Given the description of an element on the screen output the (x, y) to click on. 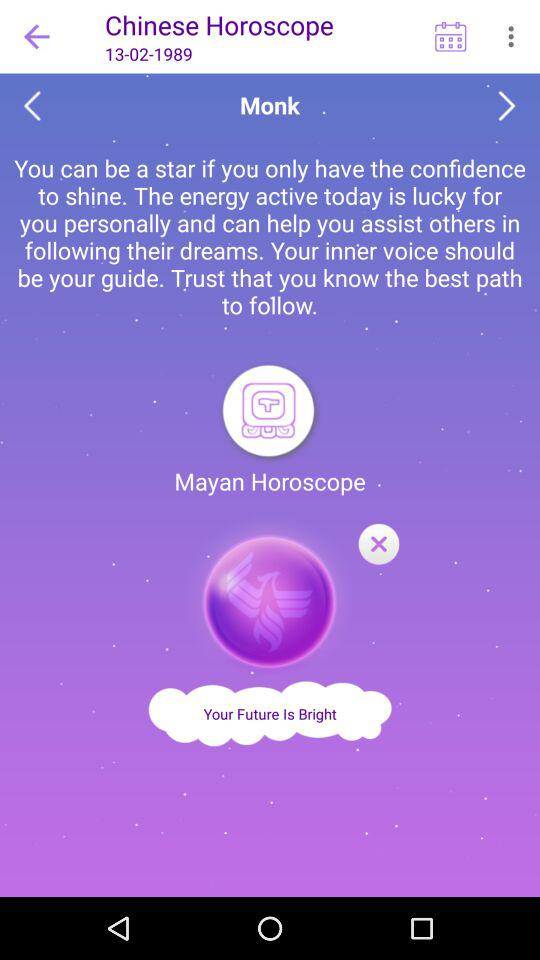
go to previus zodiac sign (32, 106)
